Given the description of an element on the screen output the (x, y) to click on. 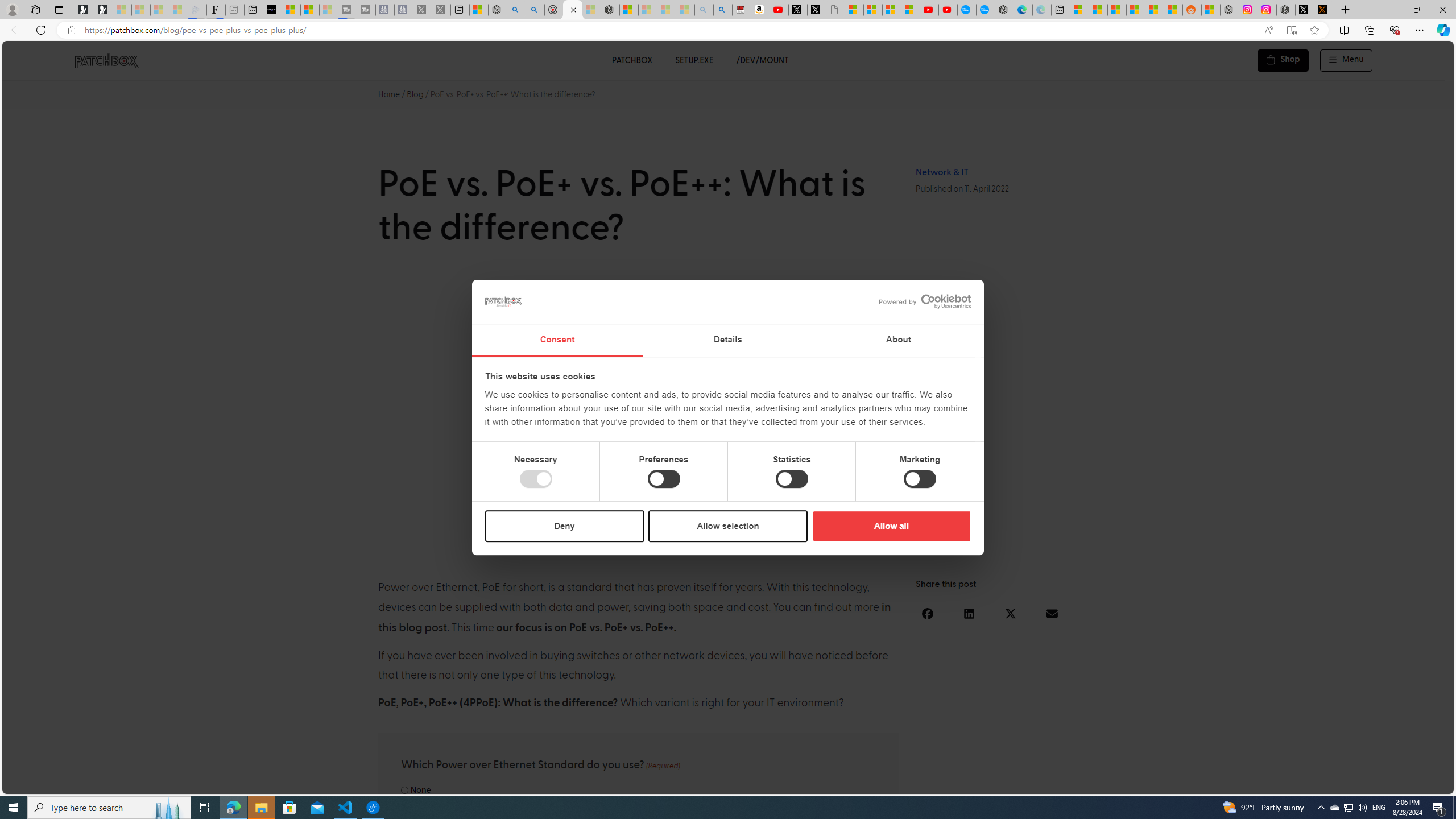
/DEV/MOUNT (762, 60)
New tab - Sleeping (234, 9)
PoE vs. PoE+ vs. PoE++ (727, 413)
logo (503, 301)
logo - opens in a new window (920, 301)
/DEV/MOUNT (762, 60)
Preferences (663, 479)
Share on facebook (927, 613)
PATCHBOX (631, 60)
Language switcher : Slovak (1345, 782)
